Given the description of an element on the screen output the (x, y) to click on. 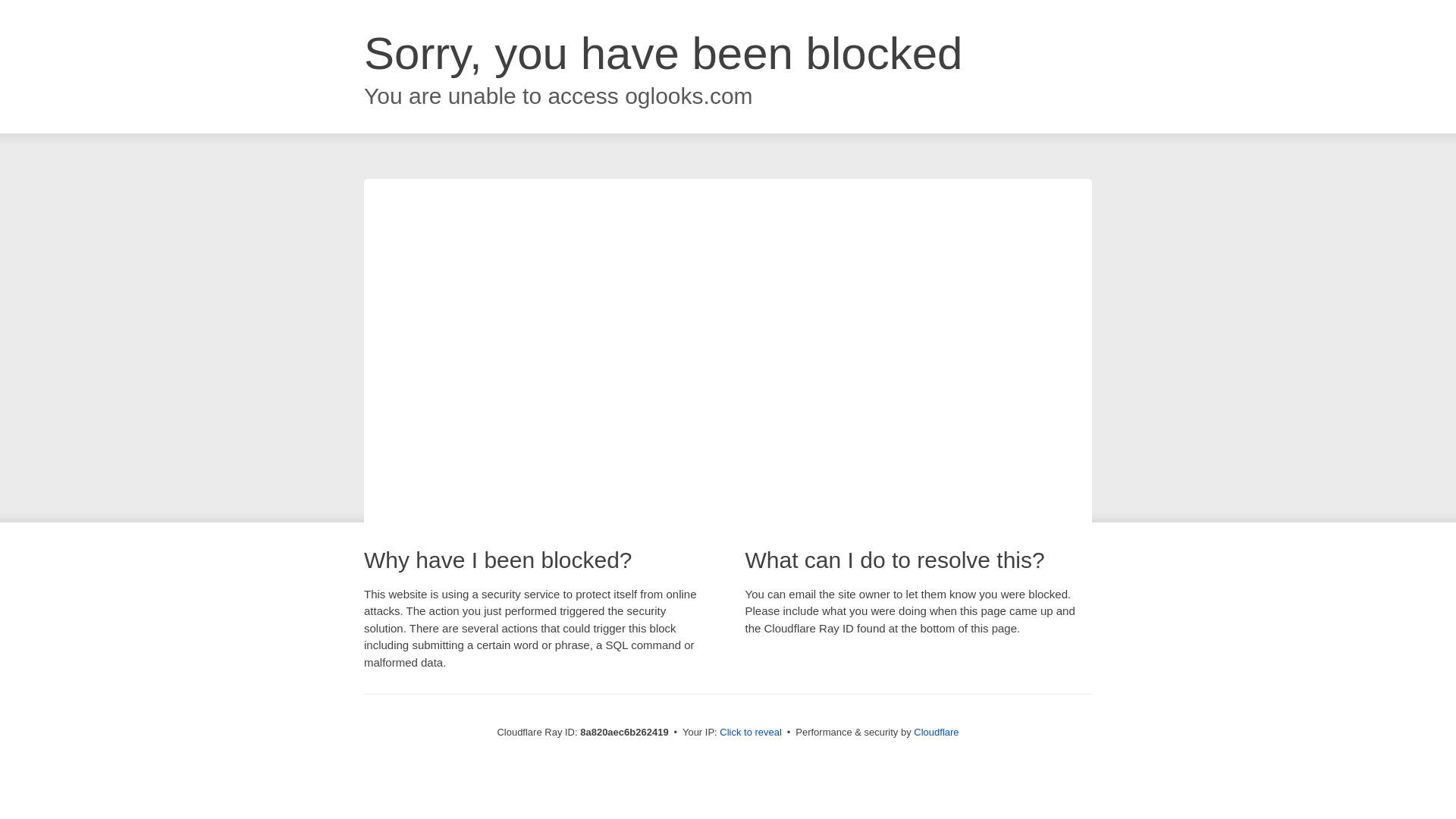
Cloudflare (936, 731)
Click to reveal (750, 732)
